Given the description of an element on the screen output the (x, y) to click on. 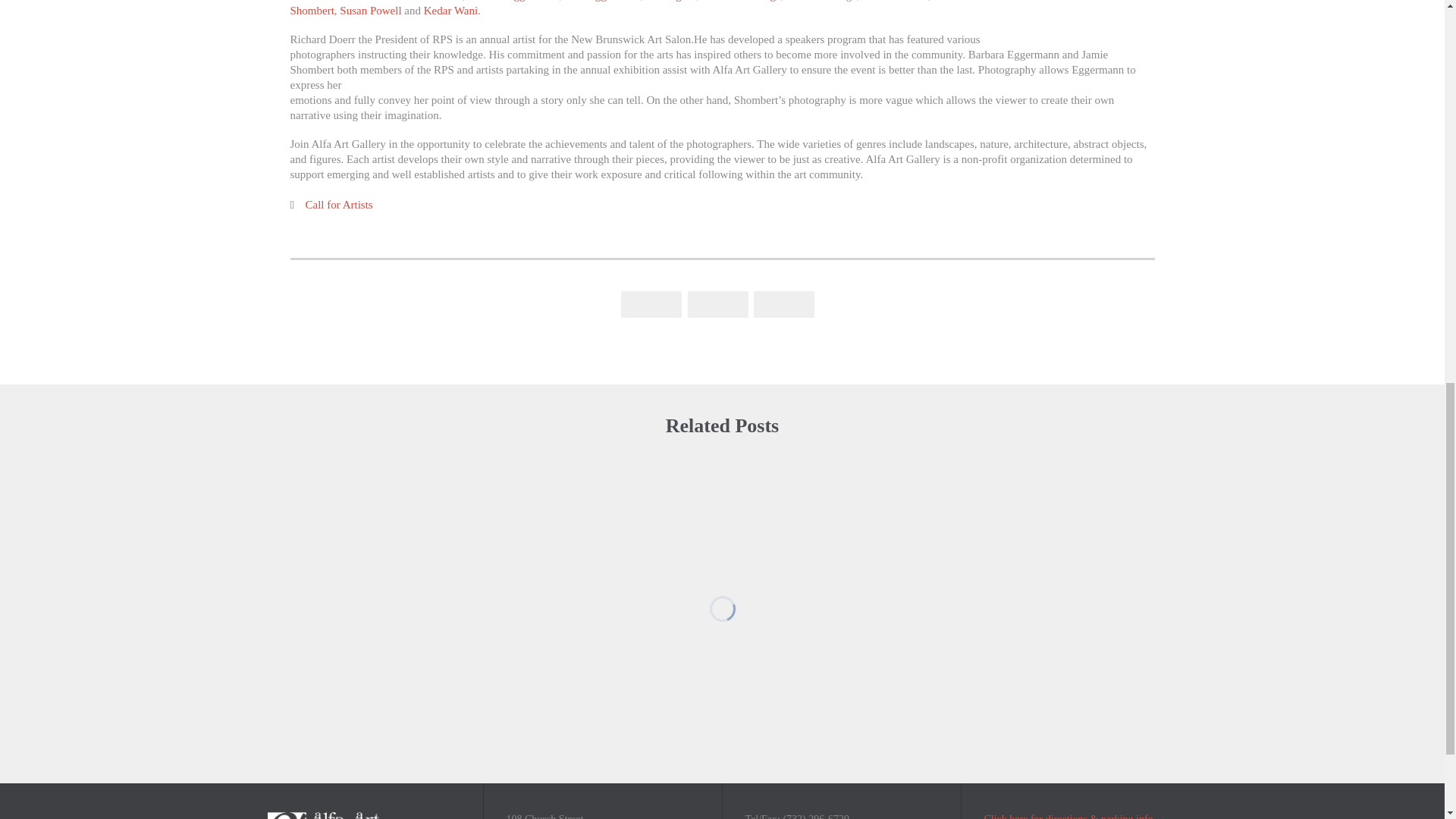
Carol Petscavage (740, 0)
Paul Eggermann (602, 0)
Share on Google Plus (783, 303)
Share on Twitter (717, 303)
Share on Facebook (651, 303)
Barbara Eggermann (513, 0)
Ed Hughes (670, 0)
Richard Doerr (430, 0)
